Given the description of an element on the screen output the (x, y) to click on. 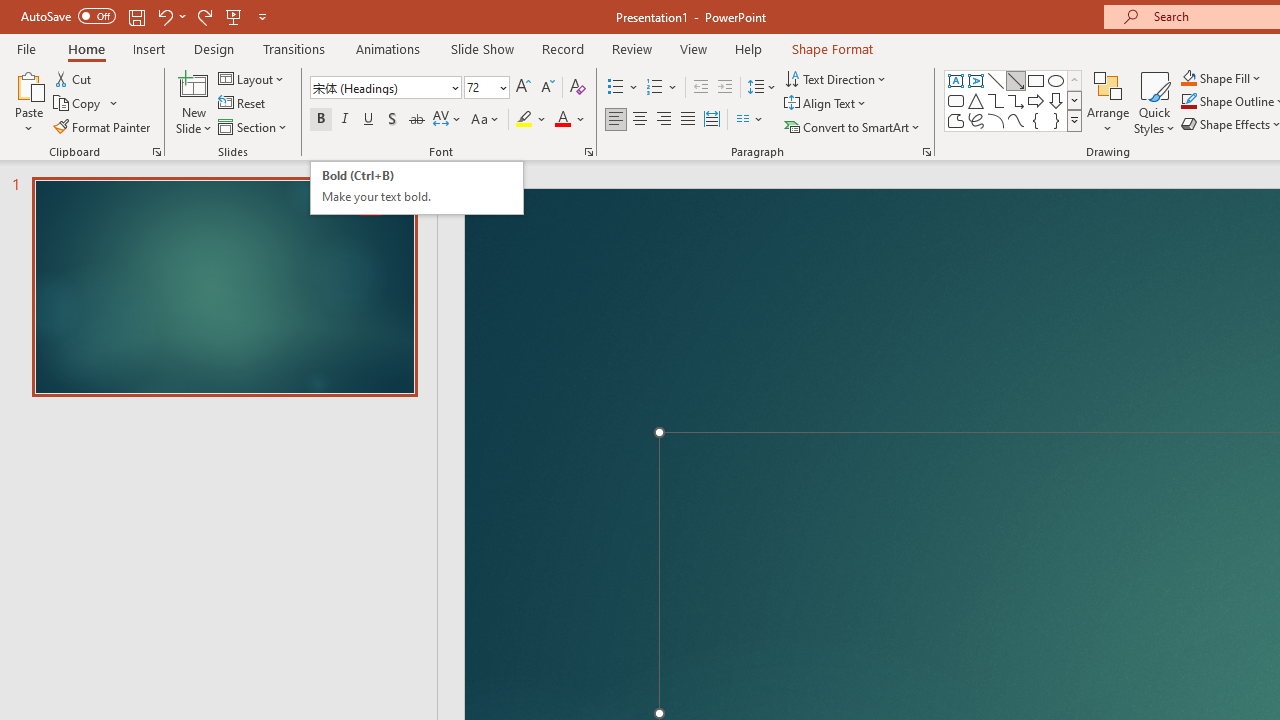
AutomationID: ShapesInsertGallery (1014, 100)
Decrease Indent (700, 87)
Right Brace (1055, 120)
Font Size (486, 87)
Bold (320, 119)
Slide (224, 286)
Numbering (661, 87)
Open (502, 87)
Numbering (654, 87)
Arrow: Right (1035, 100)
